Given the description of an element on the screen output the (x, y) to click on. 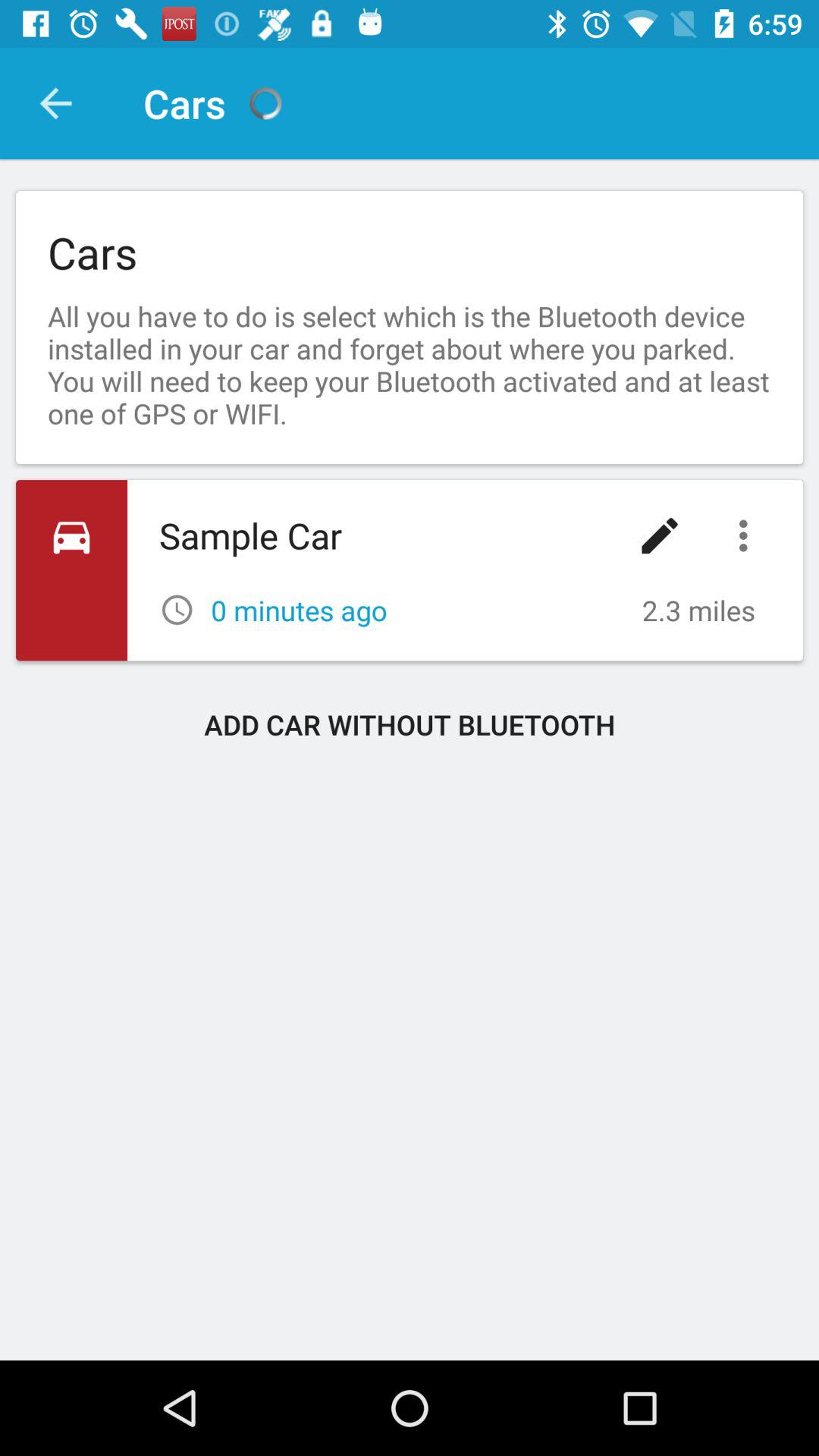
flip to add car without icon (409, 724)
